Given the description of an element on the screen output the (x, y) to click on. 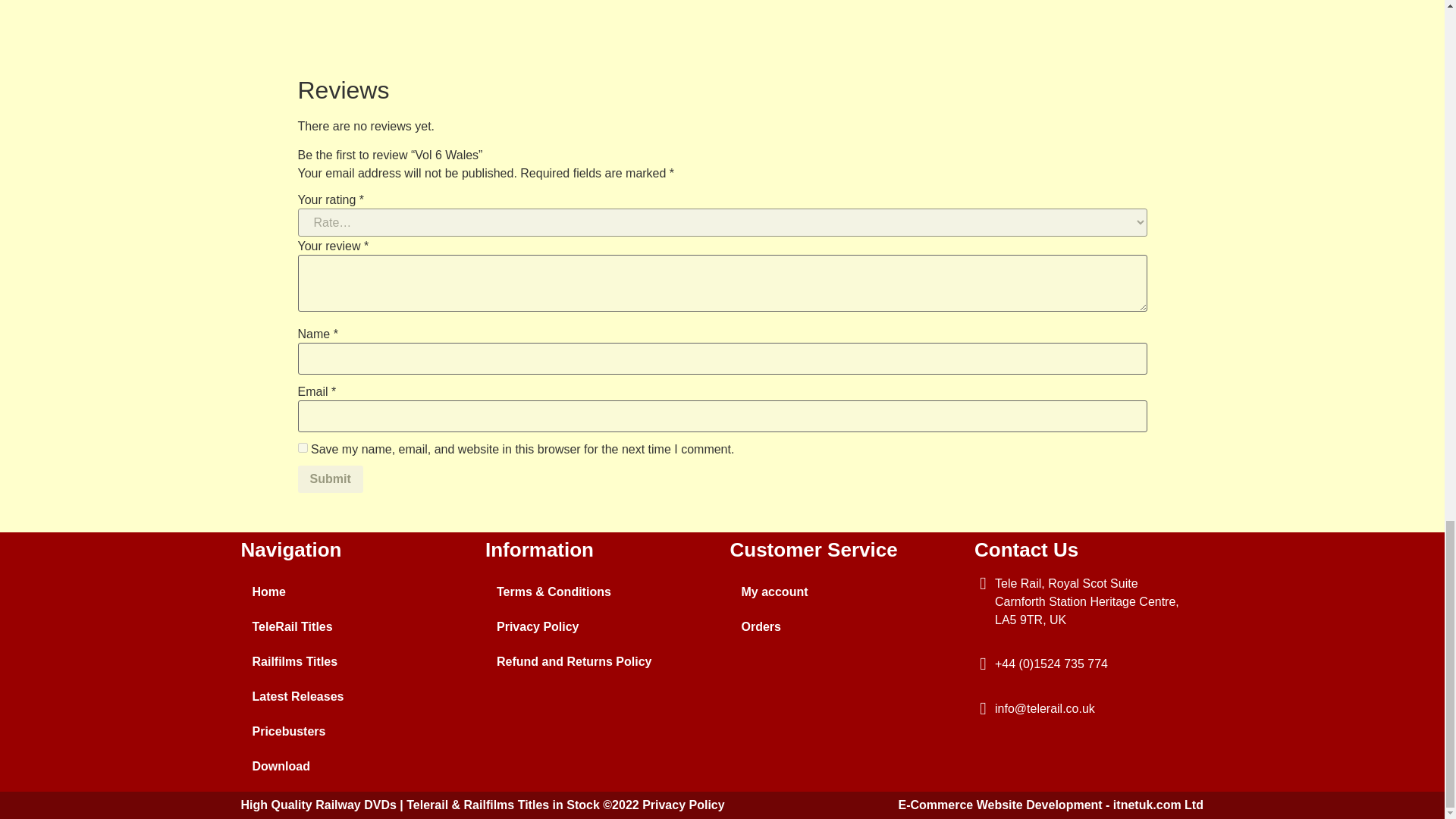
Submit (329, 479)
Orders (844, 626)
Home (355, 591)
itnetuk.com Ltd (1158, 804)
Download (355, 766)
yes (302, 447)
TeleRail Titles (355, 626)
Privacy Policy (599, 626)
Railfilms Titles (355, 661)
Latest Releases (355, 696)
Refund and Returns Policy (599, 661)
Pricebusters (355, 731)
My account (844, 591)
THE RAILWAY REGISTER  6 Wales - Railfilms (722, 22)
Submit (329, 479)
